Given the description of an element on the screen output the (x, y) to click on. 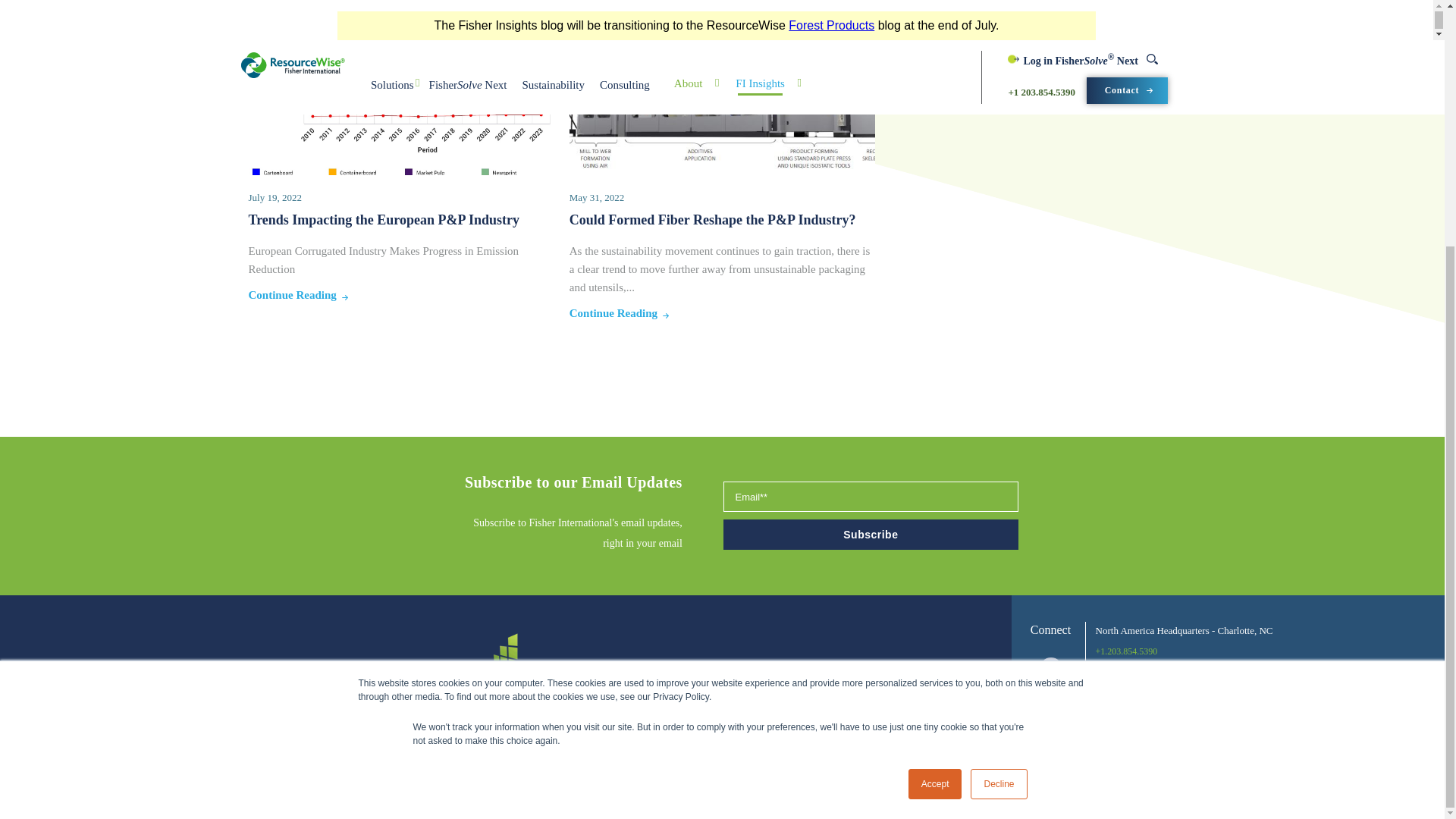
Continue Reading (613, 313)
Accept (935, 440)
Continue Reading (292, 295)
Decline (998, 440)
Subscribe (871, 534)
